Given the description of an element on the screen output the (x, y) to click on. 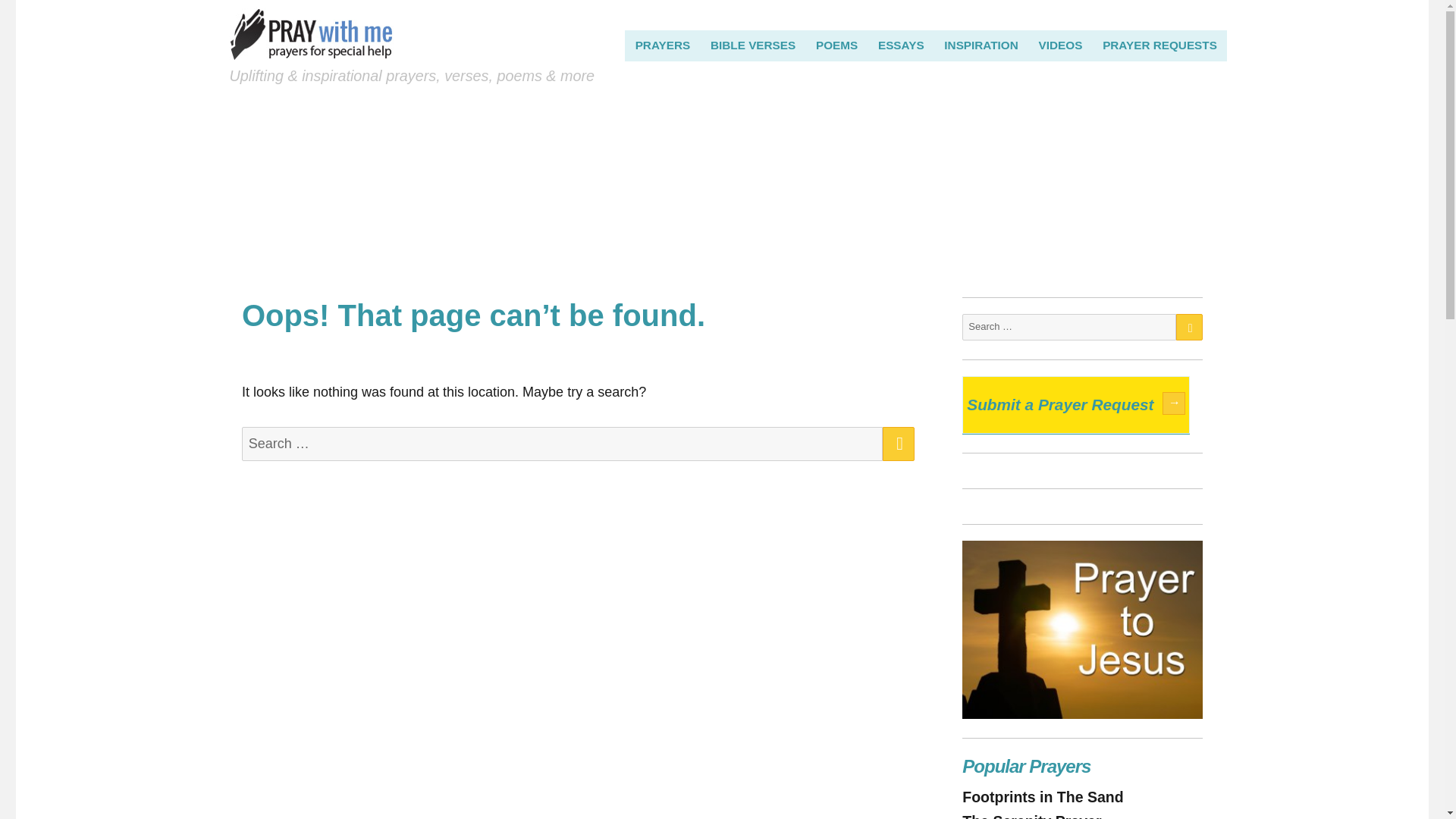
PRAYER REQUESTS (1160, 45)
PRAYERS (662, 45)
Footprints in The Sand (1042, 796)
INSPIRATION (980, 45)
ESSAYS (900, 45)
BIBLE VERSES (753, 45)
SEARCH (898, 443)
VIDEOS (1060, 45)
POEMS (836, 45)
The Serenity Prayer (1031, 816)
